Given the description of an element on the screen output the (x, y) to click on. 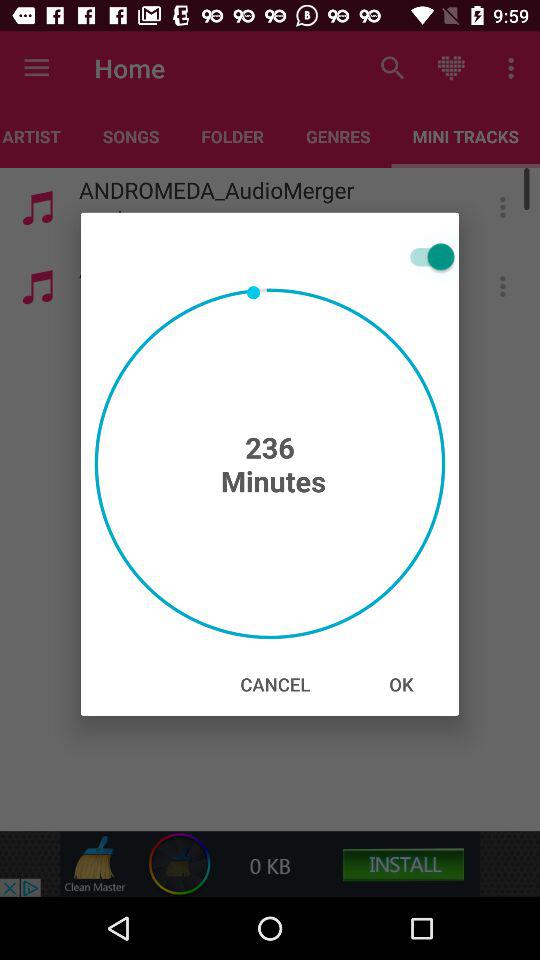
choose the item at the bottom (275, 683)
